Given the description of an element on the screen output the (x, y) to click on. 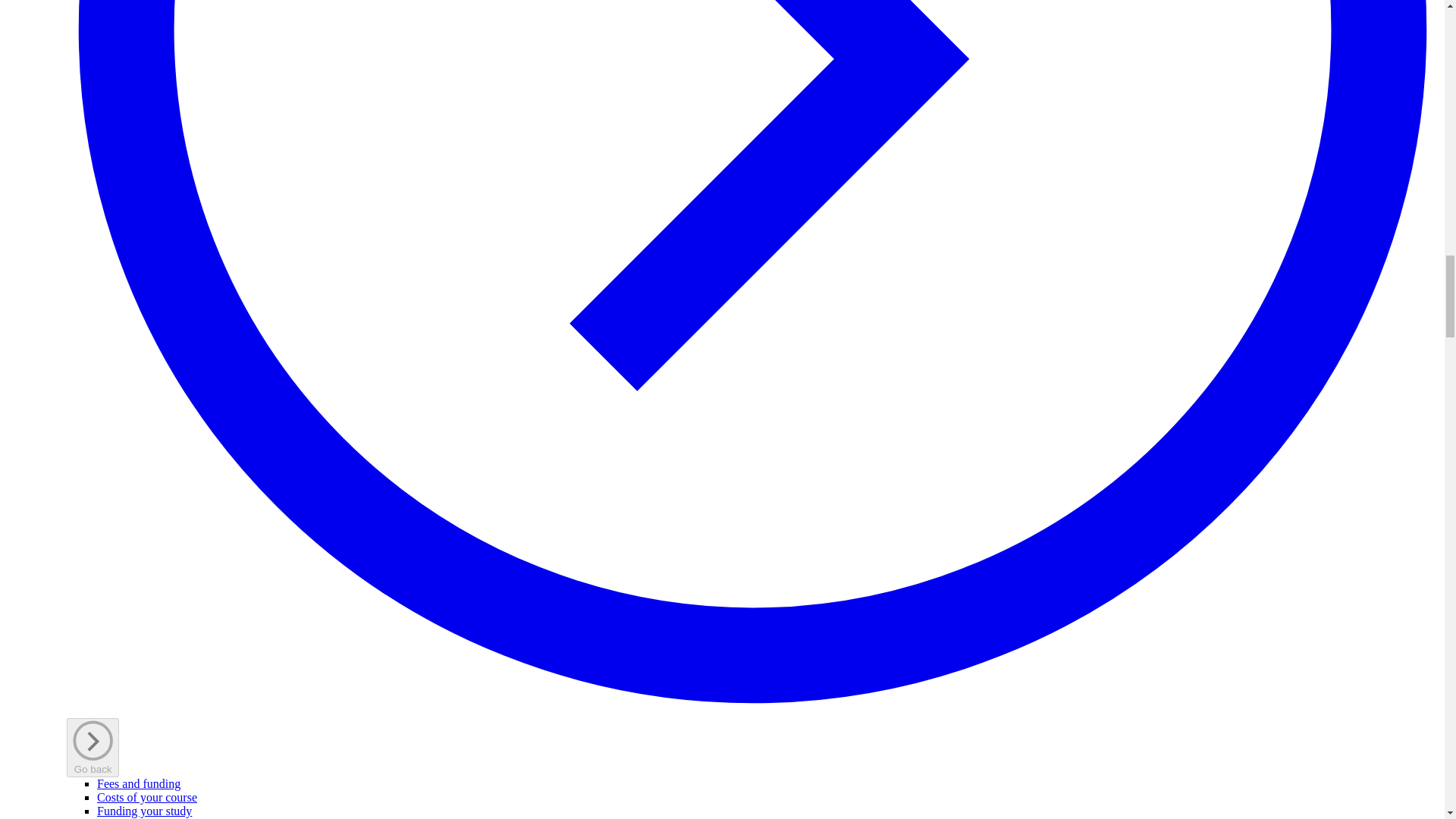
Fees and funding (138, 783)
Go back (92, 747)
Funding your study (144, 810)
Costs of your course (146, 797)
